Given the description of an element on the screen output the (x, y) to click on. 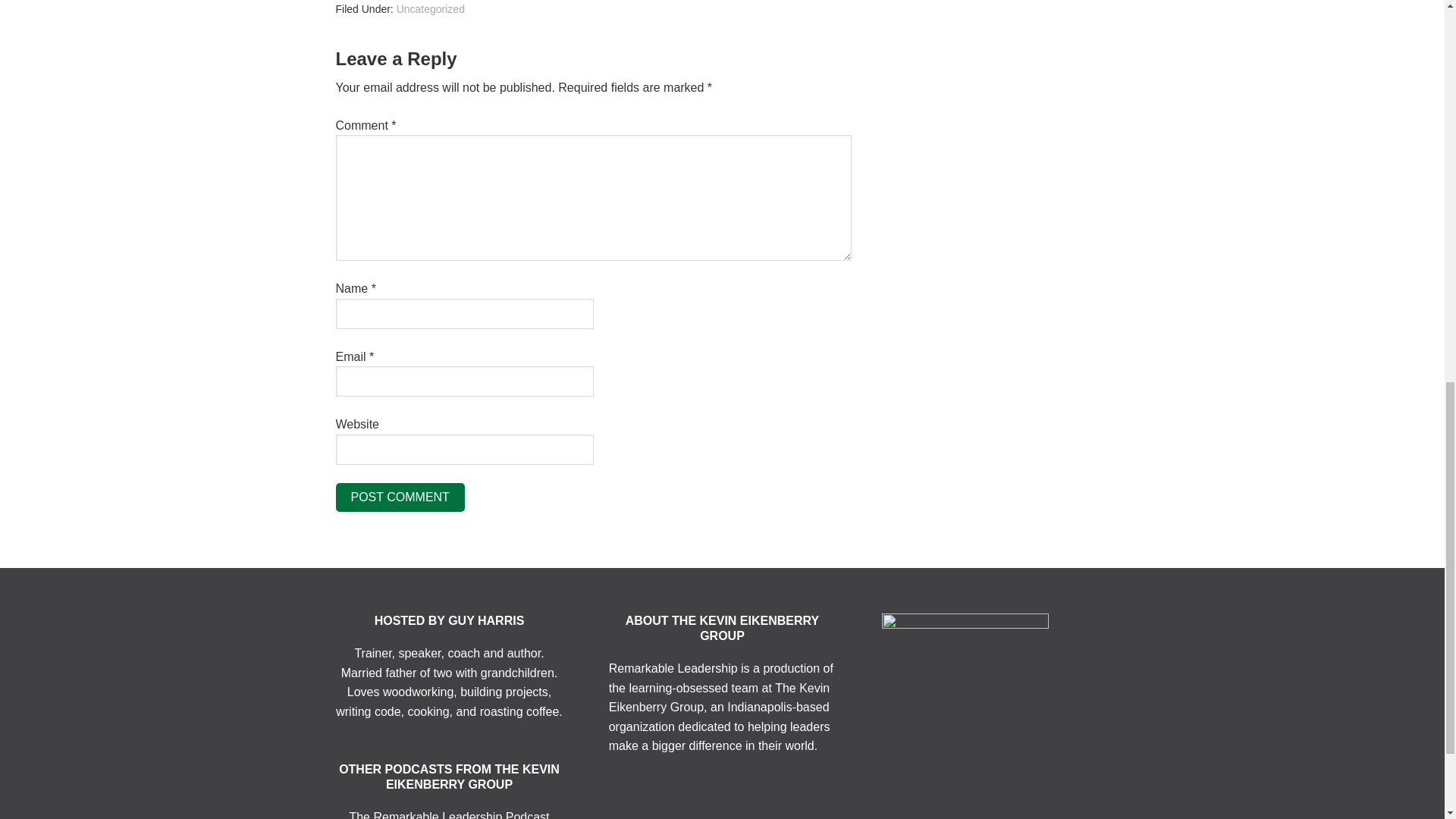
The Kevin Eikenberry Group (718, 697)
Post Comment (399, 497)
Post Comment (399, 497)
The Remarkable Leadership Podcast (448, 814)
Uncategorized (430, 9)
